Given the description of an element on the screen output the (x, y) to click on. 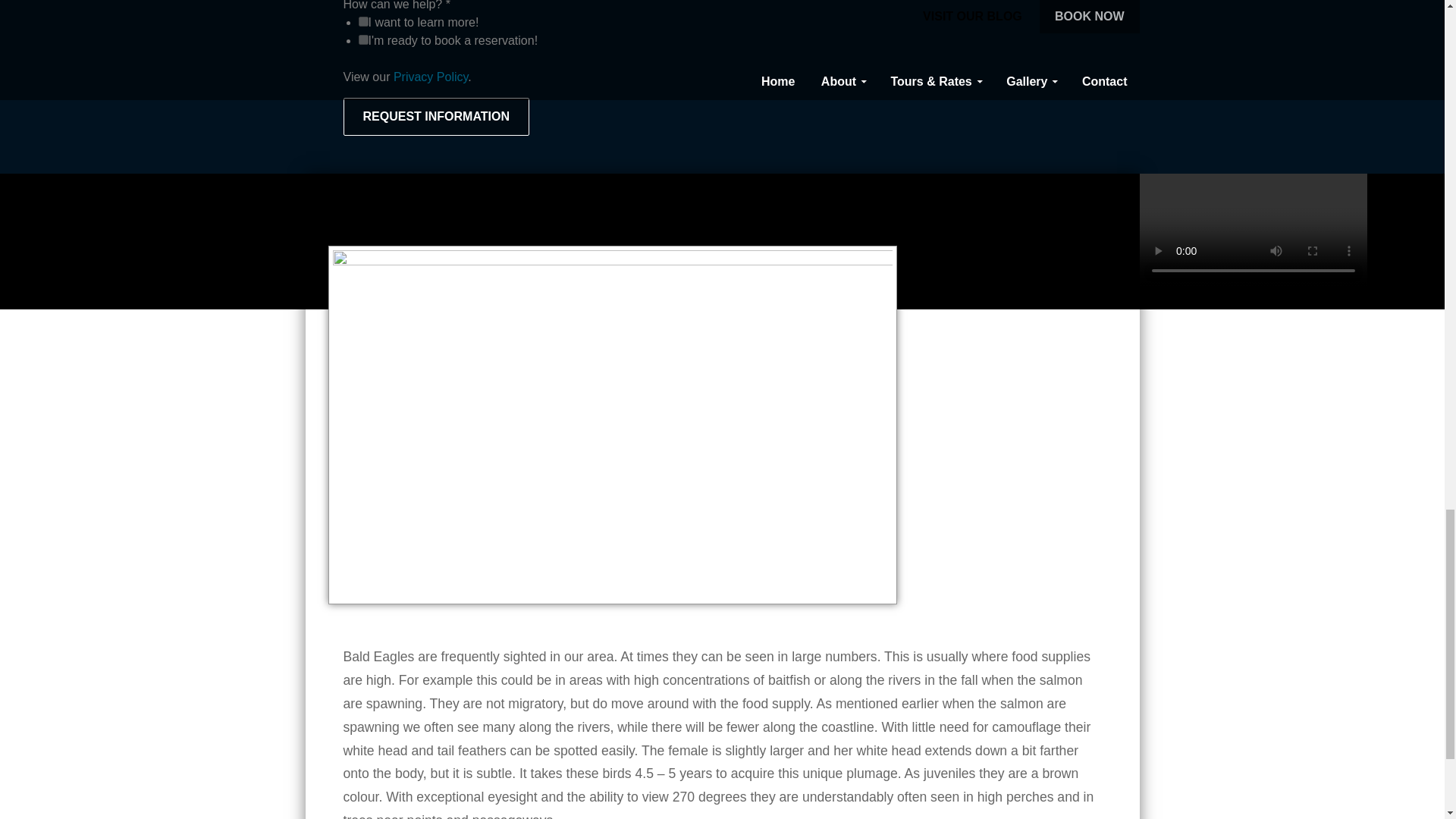
Bald Eagles (1003, 193)
Privacy Policy (430, 76)
I'm ready to book a reservation! (363, 40)
REQUEST INFORMATION (435, 116)
I want to learn more! (363, 21)
